Given the description of an element on the screen output the (x, y) to click on. 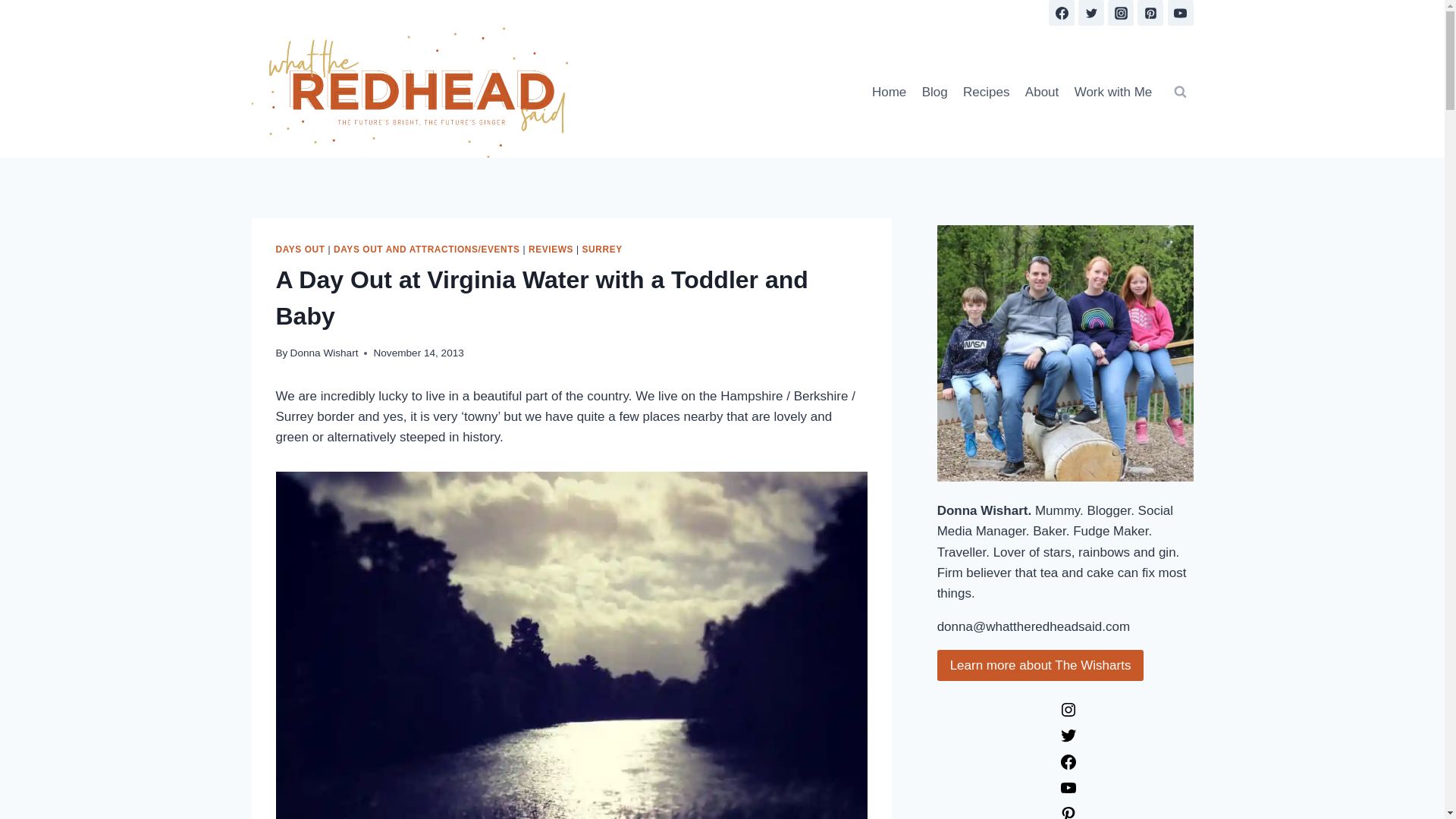
Work with Me (1111, 91)
REVIEWS (550, 249)
DAYS OUT (300, 249)
Donna Wishart (323, 352)
About (1042, 91)
Home (889, 91)
Recipes (986, 91)
Blog (934, 91)
SURREY (602, 249)
